Given the description of an element on the screen output the (x, y) to click on. 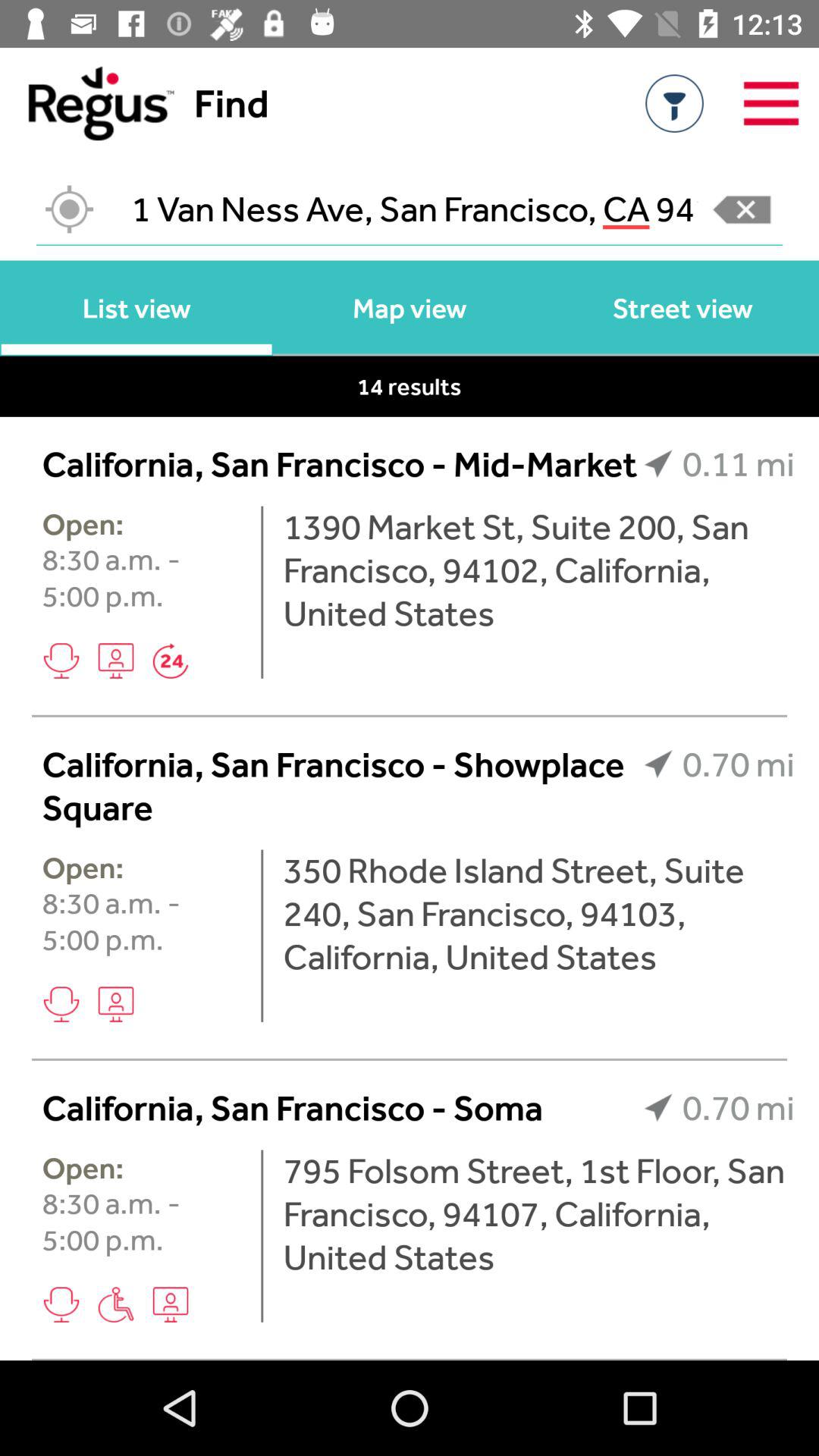
click the item below the 8 30 a item (115, 1004)
